Given the description of an element on the screen output the (x, y) to click on. 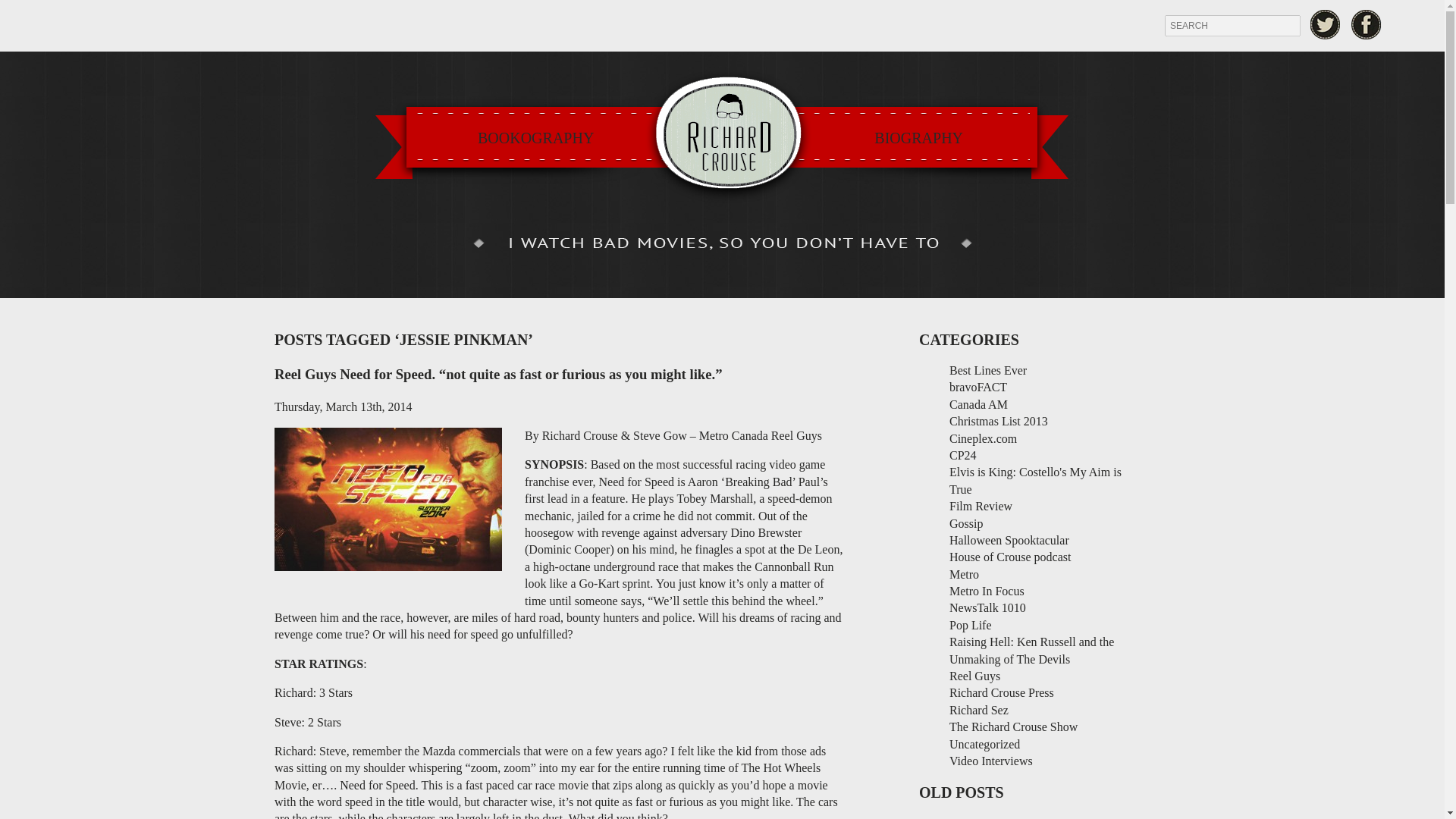
bravoFACT (978, 386)
Film Review (980, 505)
Cineplex.com (982, 438)
Richard Crouse Press (1001, 692)
Facebook (1366, 24)
Elvis is King: Costello's My Aim is True (1035, 480)
Halloween Spooktacular (1008, 540)
Gossip (965, 522)
BIOGRAPHY (918, 137)
Reel Guys (974, 675)
